Given the description of an element on the screen output the (x, y) to click on. 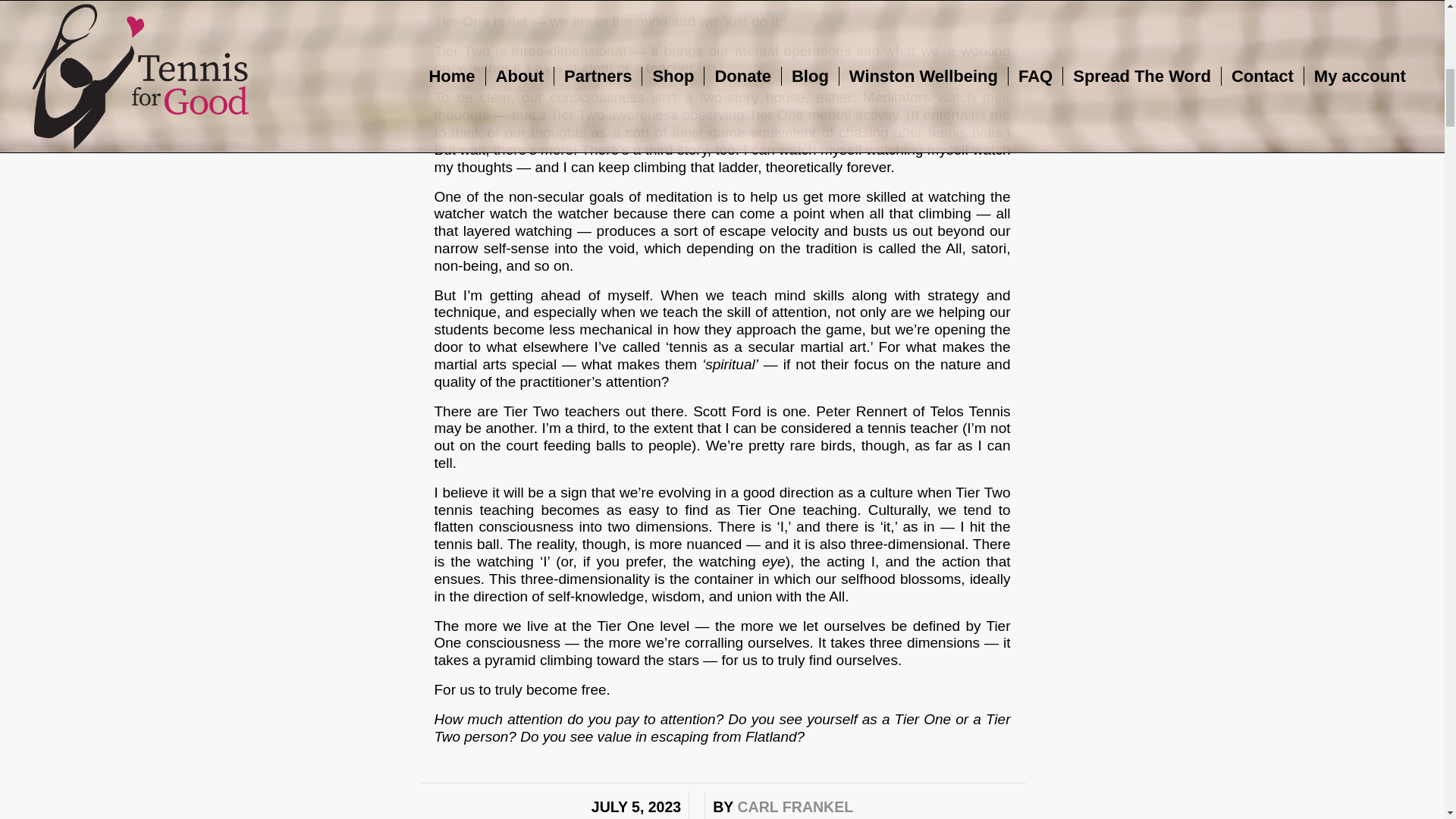
CARL FRANKEL (794, 806)
